Given the description of an element on the screen output the (x, y) to click on. 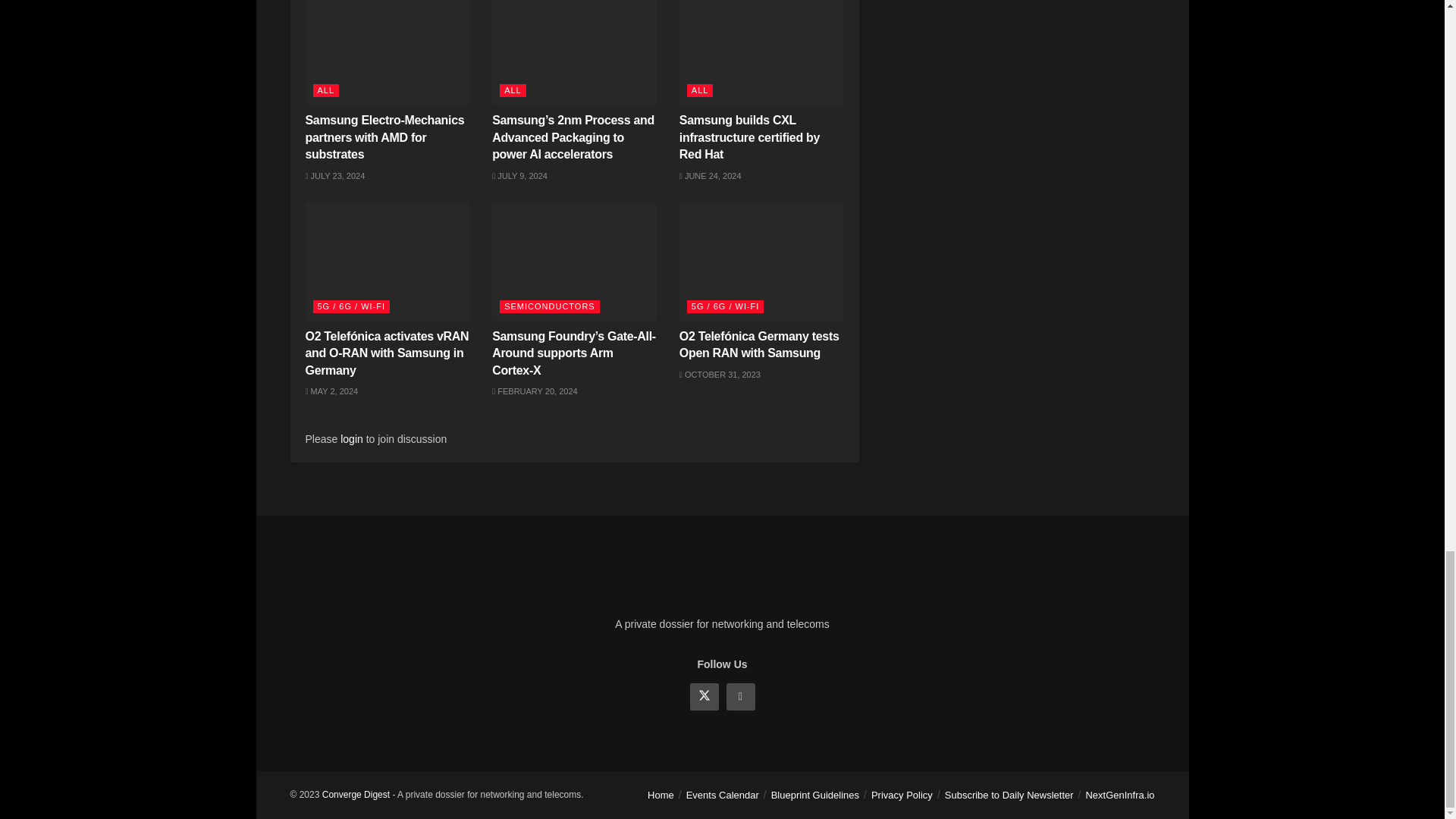
Converge Digest (355, 794)
